Given the description of an element on the screen output the (x, y) to click on. 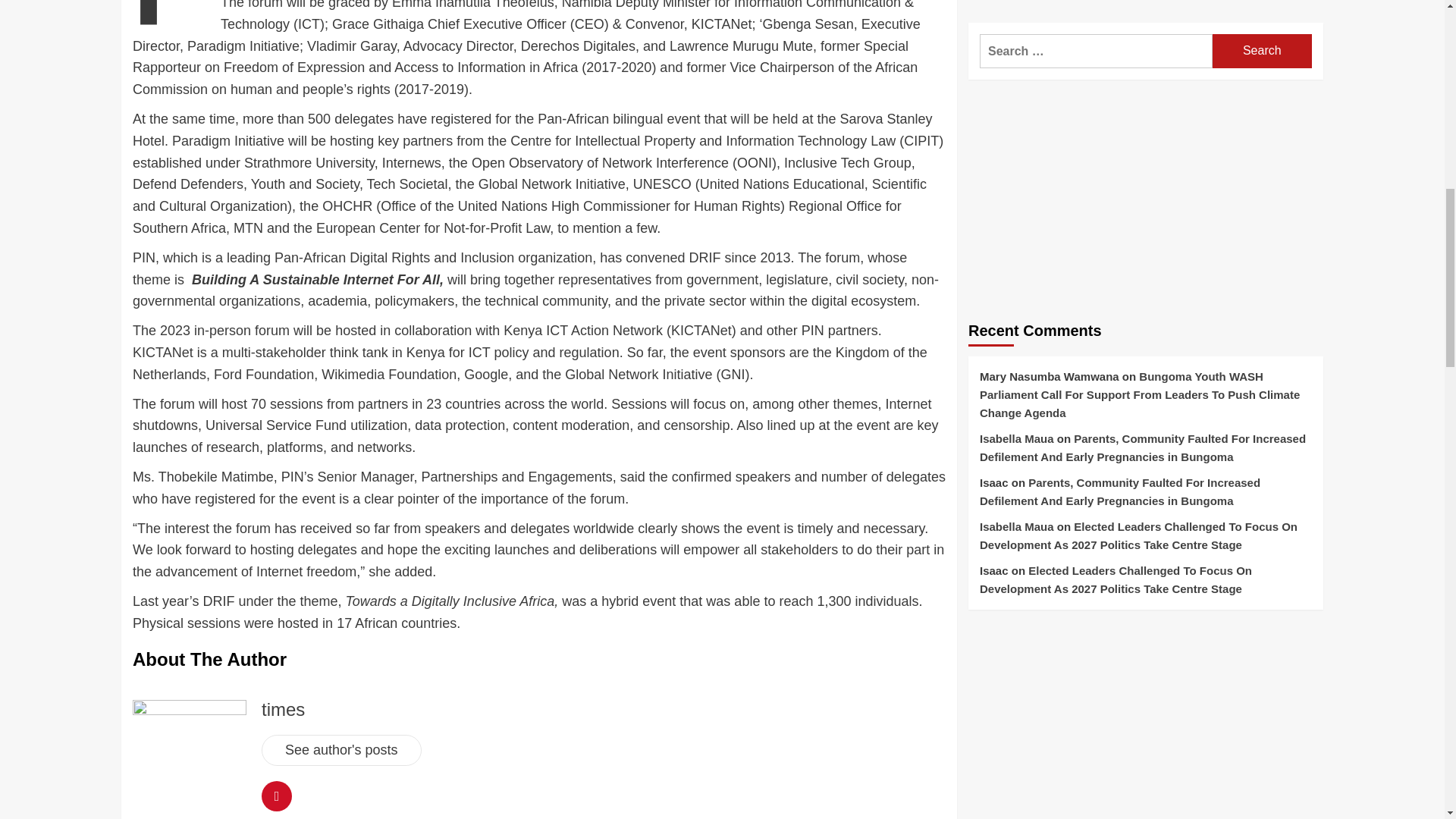
times (283, 709)
See author's posts (342, 749)
